Given the description of an element on the screen output the (x, y) to click on. 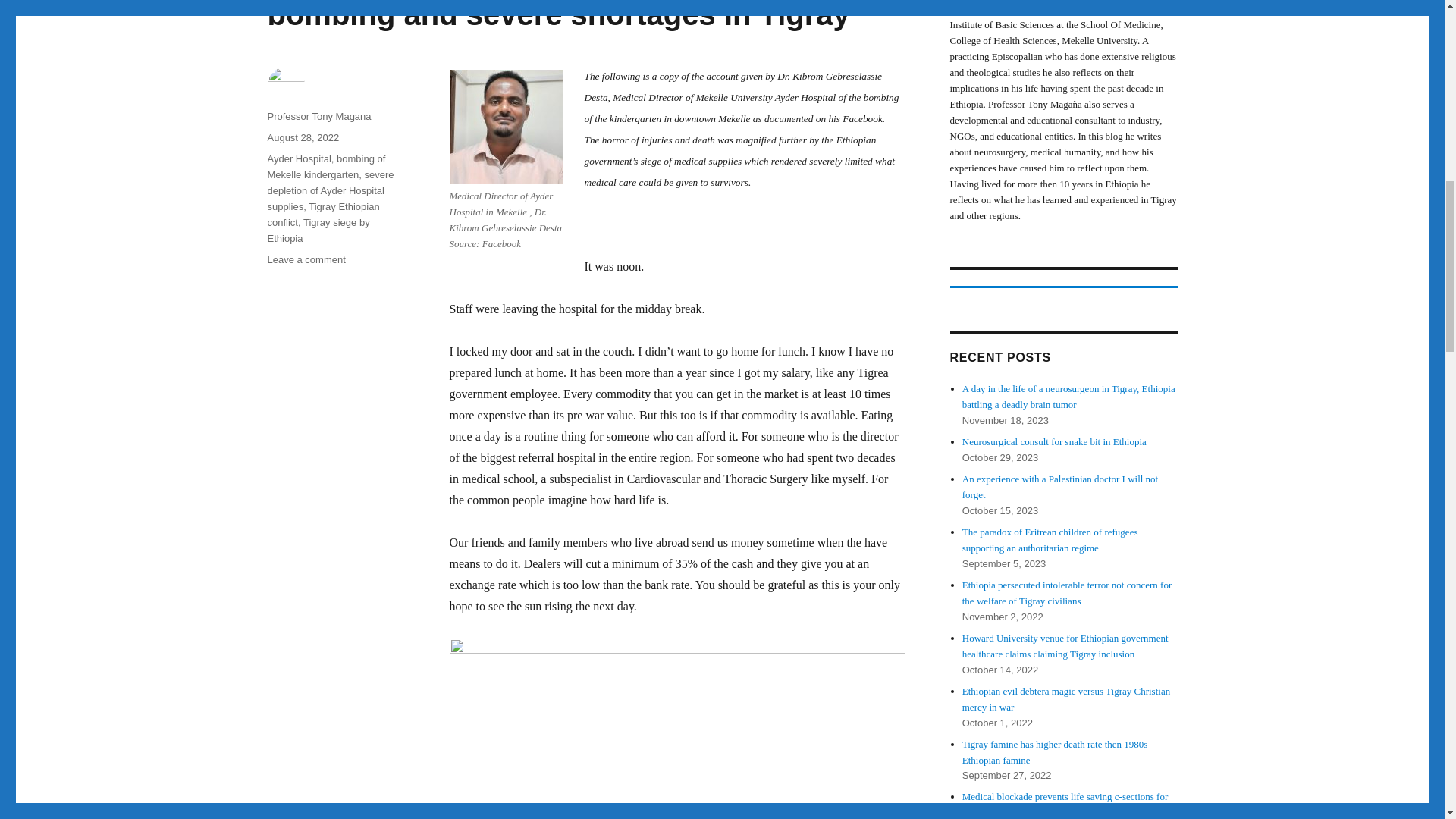
Neurosurgical consult for snake bit in Ethiopia (1054, 441)
An experience with a Palestinian doctor I will not forget (1059, 486)
Tigray siege by Ethiopia (317, 230)
August 28, 2022 (302, 137)
bombing of Mekelle kindergarten (325, 166)
severe depletion of Ayder Hospital supplies (329, 190)
